Given the description of an element on the screen output the (x, y) to click on. 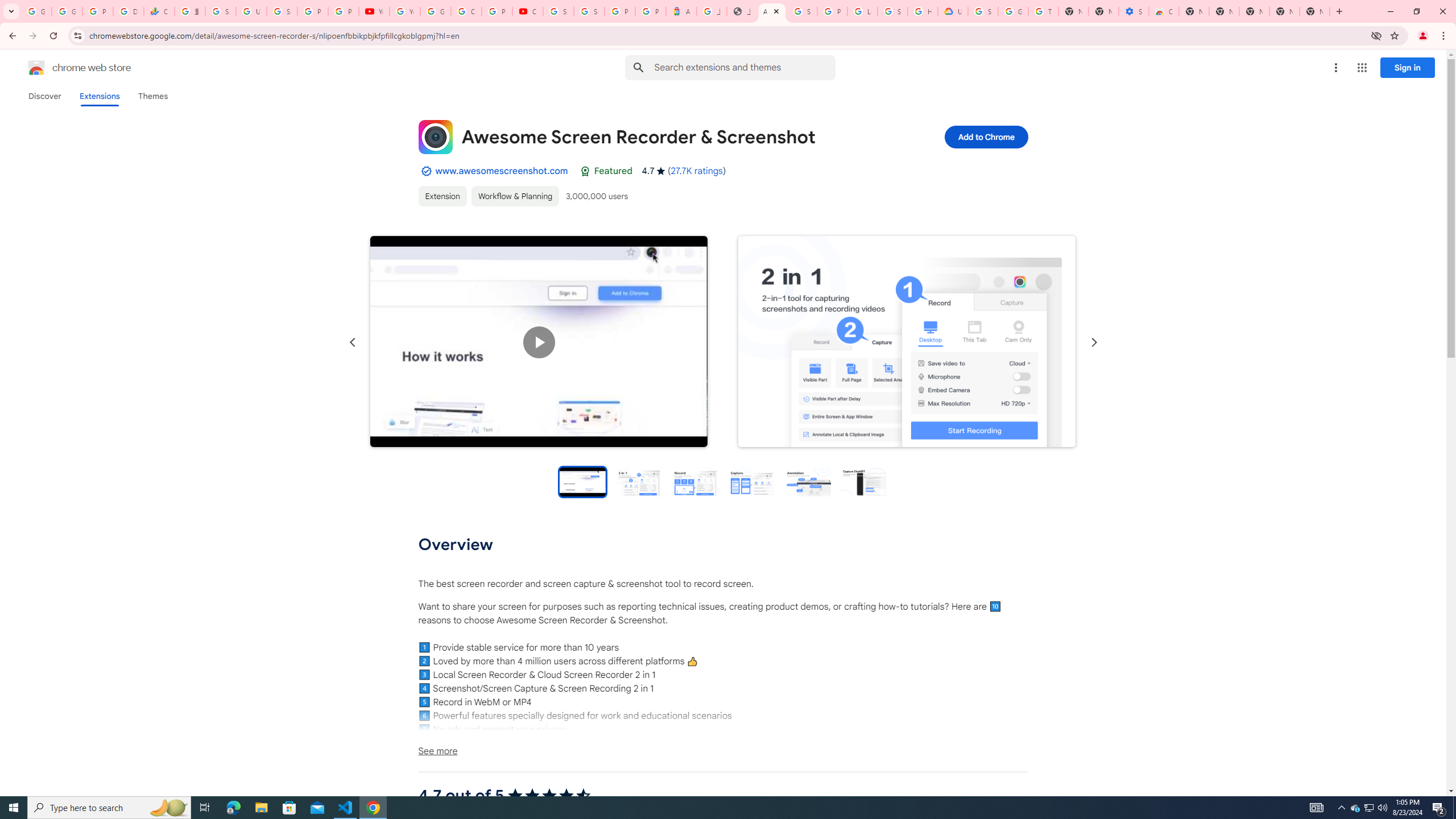
Google Account Help (434, 11)
Sign in - Google Accounts (801, 11)
Item video thumbnail (582, 481)
Workflow & Planning (514, 195)
Search input (744, 67)
Sign in - Google Accounts (982, 11)
Preview slide 1 (582, 481)
Turn cookies on or off - Computer - Google Account Help (1042, 11)
